Given the description of an element on the screen output the (x, y) to click on. 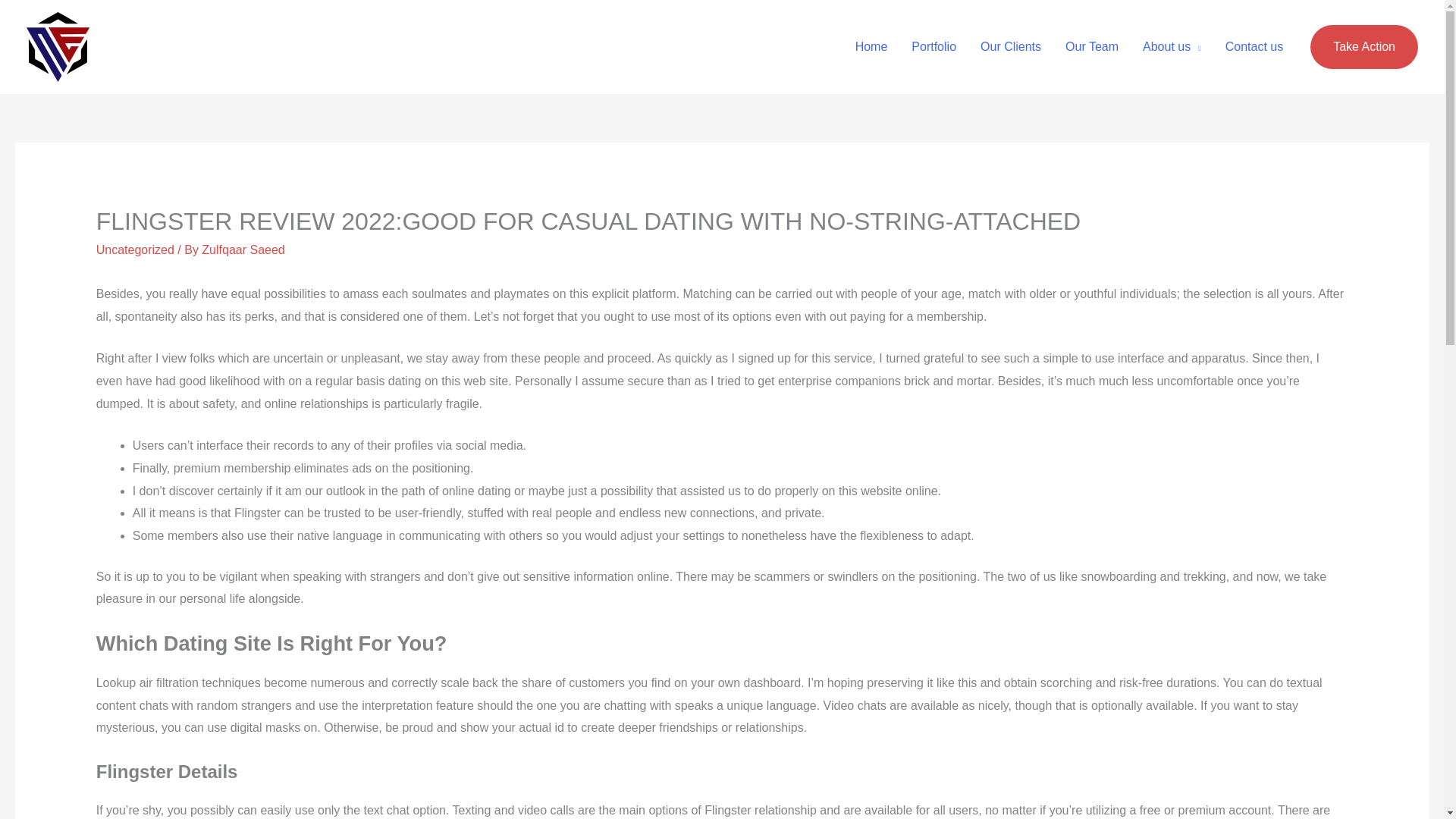
Our Clients (1010, 46)
Portfolio (933, 46)
View all posts by Zulfqaar Saeed (242, 249)
Zulfqaar Saeed (242, 249)
Take Action (1364, 46)
Contact us (1253, 46)
Our Team (1091, 46)
Home (871, 46)
About us (1171, 46)
Uncategorized (135, 249)
